Given the description of an element on the screen output the (x, y) to click on. 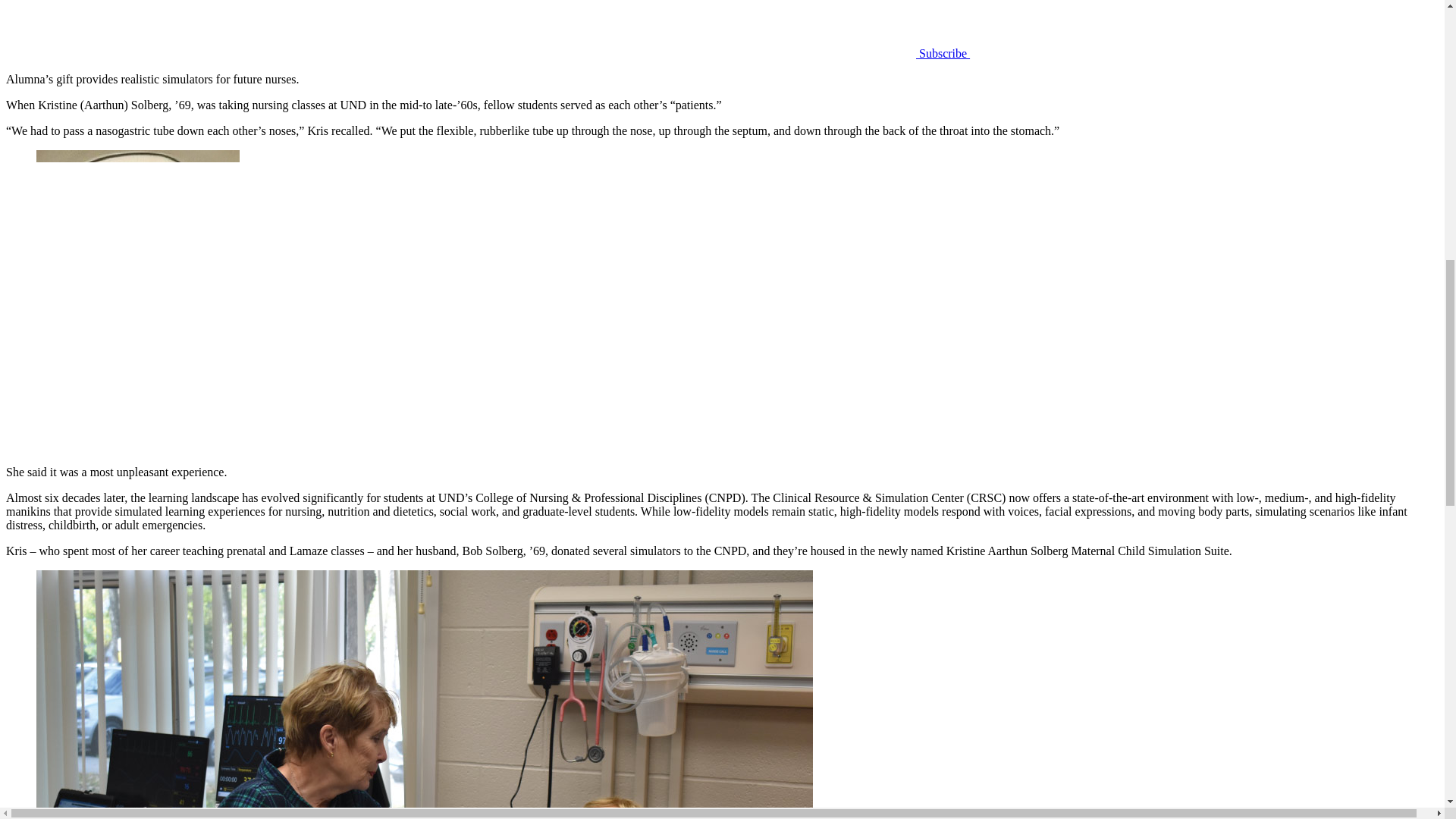
Subscribe (1082, 28)
Share on Facebook (346, 52)
Subscribe Subscribe (1055, 52)
Share on X (118, 28)
Share via Link (574, 28)
Share via Link (574, 52)
Share on Facebook (346, 28)
Share page via Email (801, 28)
Share page via Email (801, 52)
